Given the description of an element on the screen output the (x, y) to click on. 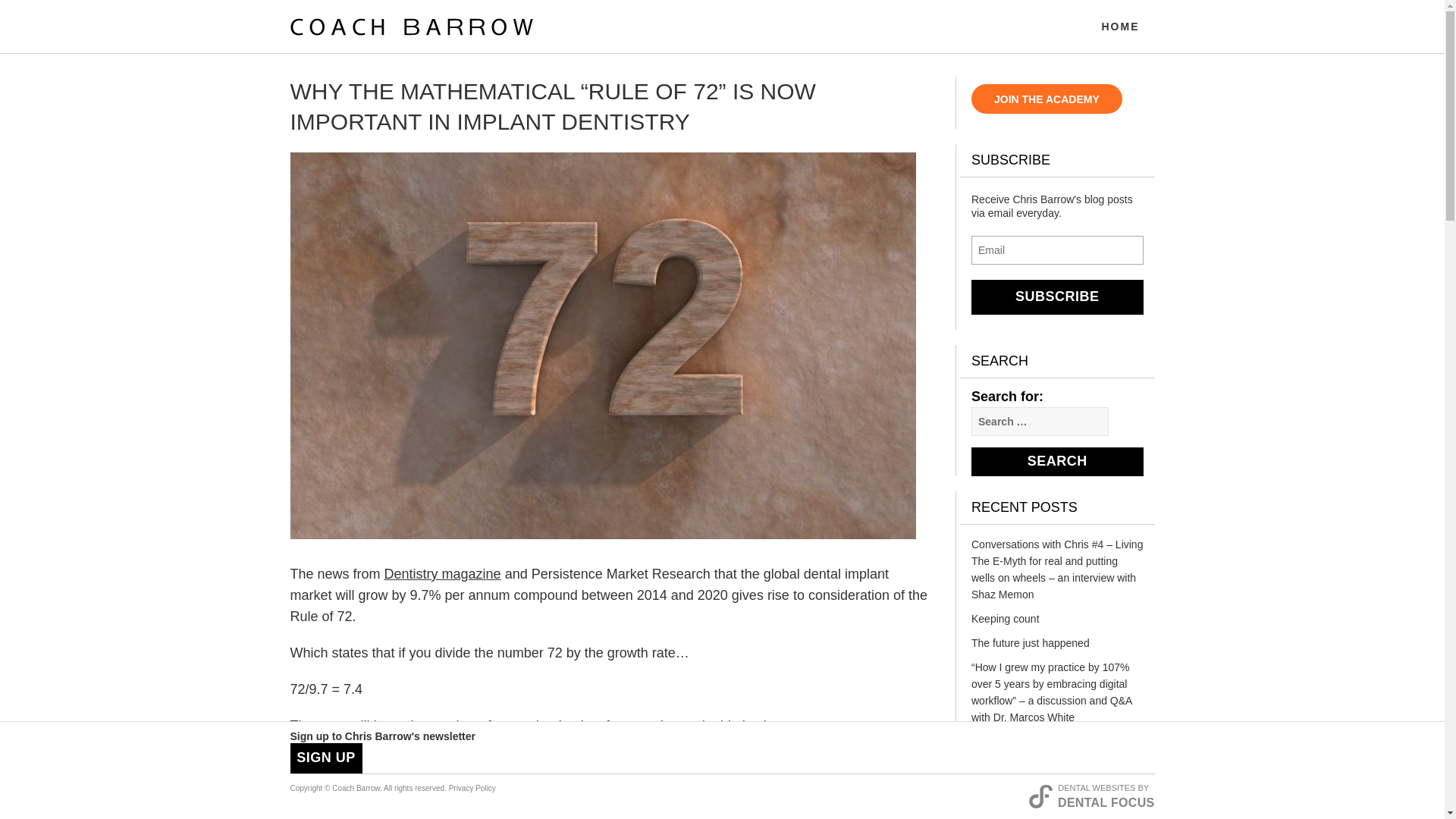
Subscribe (1056, 297)
HOME (1120, 32)
Dentistry magazine (442, 573)
Search (1056, 461)
The future just happened (1056, 646)
Home (1120, 32)
Keeping count (1056, 622)
Subscribe (1056, 297)
JOIN THE ACADEMY (1046, 98)
Search (1056, 461)
